Given the description of an element on the screen output the (x, y) to click on. 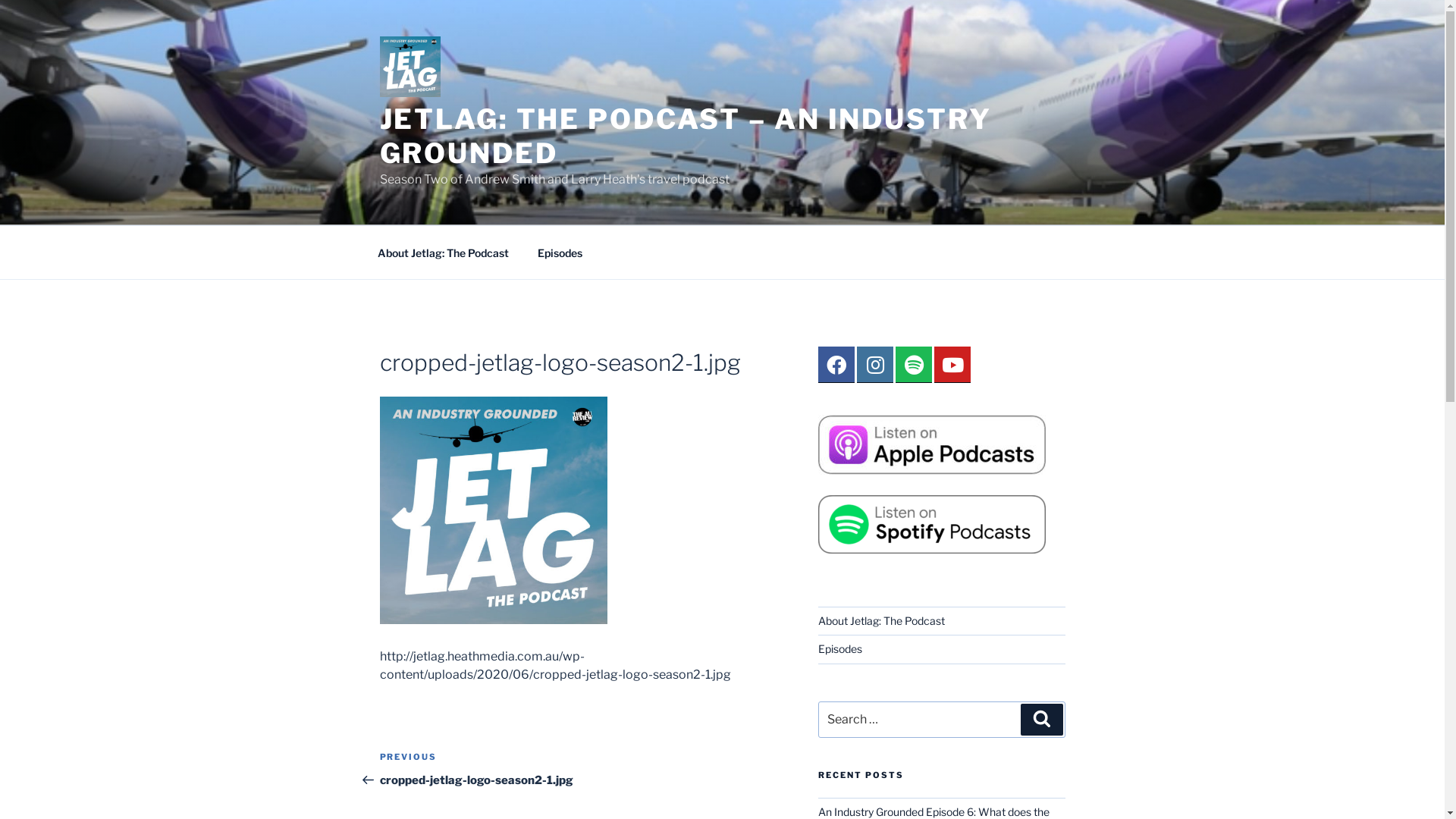
Facebook Element type: hover (836, 364)
About Jetlag: The Podcast Element type: text (881, 620)
Instagram Element type: hover (874, 364)
Previous Post
PREVIOUS
cropped-jetlag-logo-season2-1.jpg Element type: text (478, 768)
Spotify Element type: hover (913, 364)
Search Element type: text (1041, 719)
About Jetlag: The Podcast Element type: text (442, 251)
Episodes Element type: text (560, 251)
Skip to content Element type: text (0, 0)
YouTube Element type: hover (952, 364)
Episodes Element type: text (840, 648)
